Given the description of an element on the screen output the (x, y) to click on. 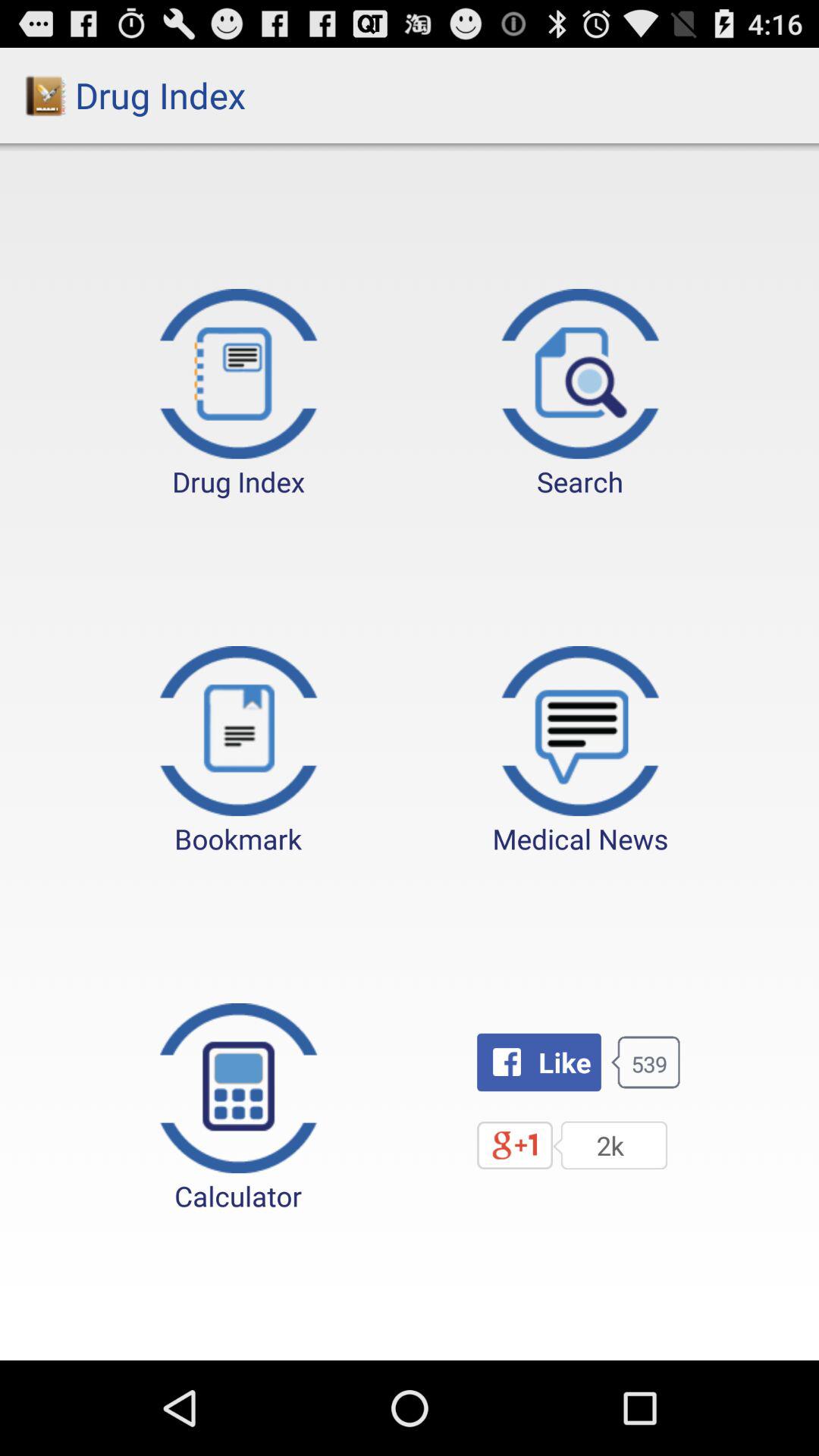
select medical news icon (580, 751)
